Given the description of an element on the screen output the (x, y) to click on. 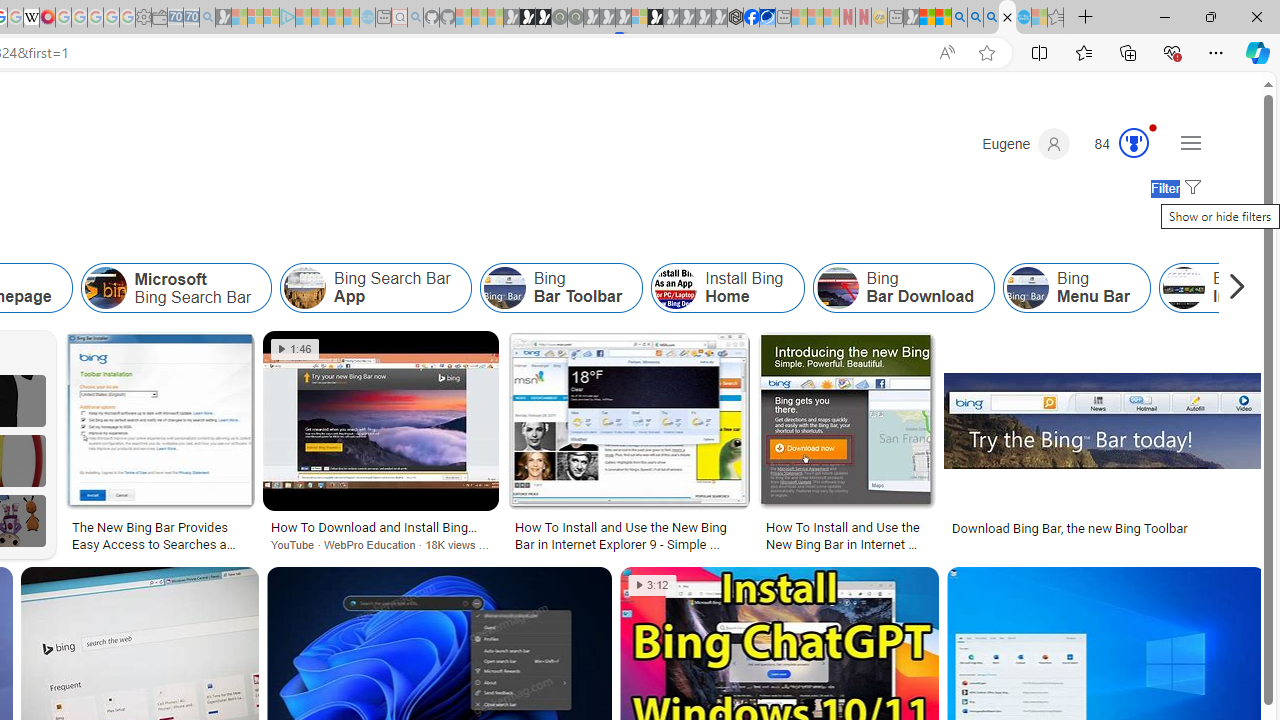
Microsoft Bing Search Bar (105, 287)
Filter (1173, 189)
Image result for Bing Search Bar Install (1104, 420)
Microsoft Rewards 84 (1115, 143)
Future Focus Report 2024 - Sleeping (575, 17)
Bing Search Bar App (376, 287)
